Given the description of an element on the screen output the (x, y) to click on. 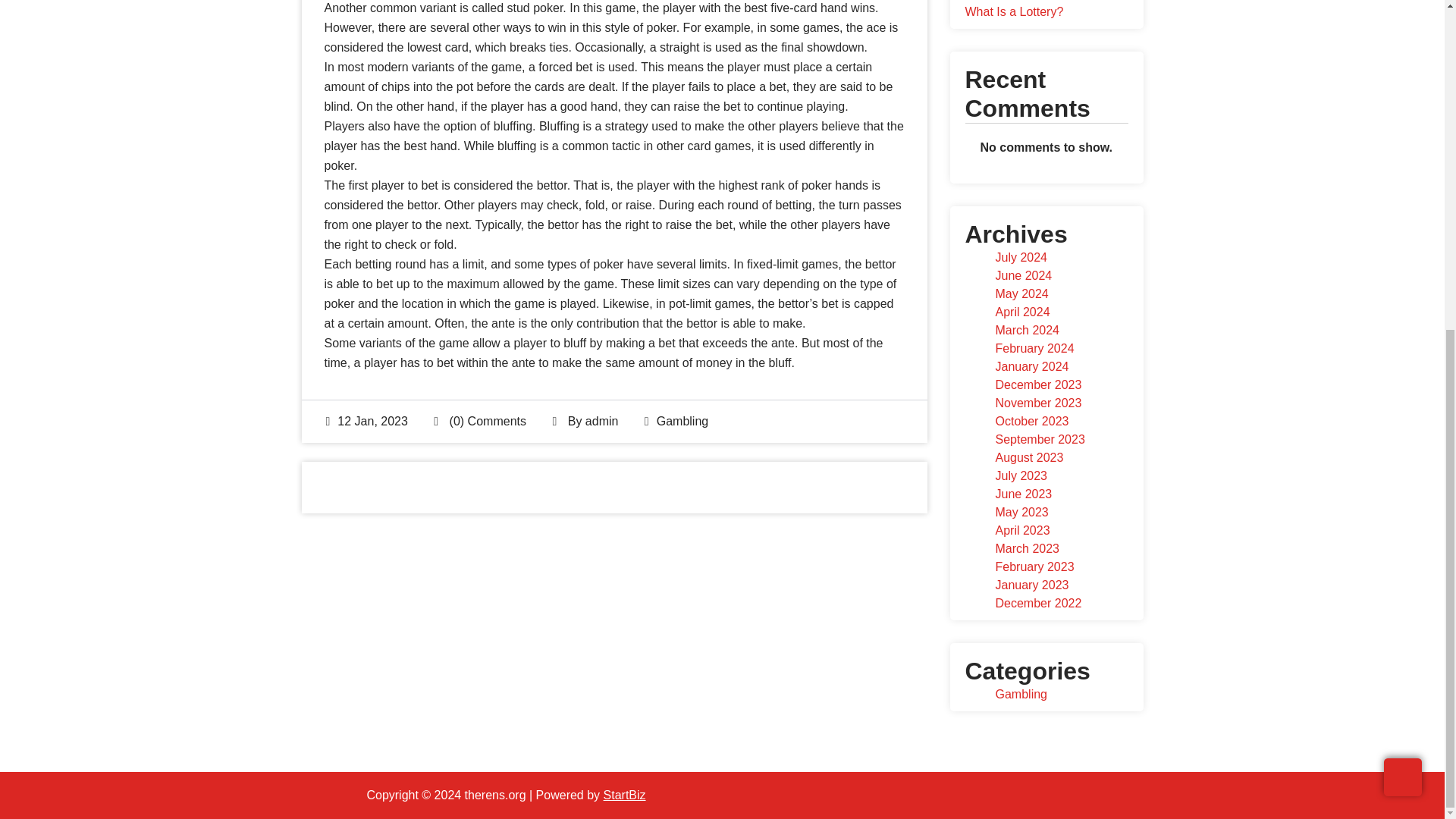
March 2024 (1026, 329)
March 2023 (1026, 548)
February 2024 (1034, 348)
July 2023 (1020, 475)
September 2023 (1039, 439)
November 2023 (1037, 402)
December 2023 (1037, 384)
July 2024 (1020, 256)
June 2024 (1022, 275)
October 2023 (1031, 420)
June 2023 (1022, 493)
January 2024 (1031, 366)
May 2024 (1021, 293)
April 2023 (1021, 530)
What Is a Lottery? (1012, 11)
